Given the description of an element on the screen output the (x, y) to click on. 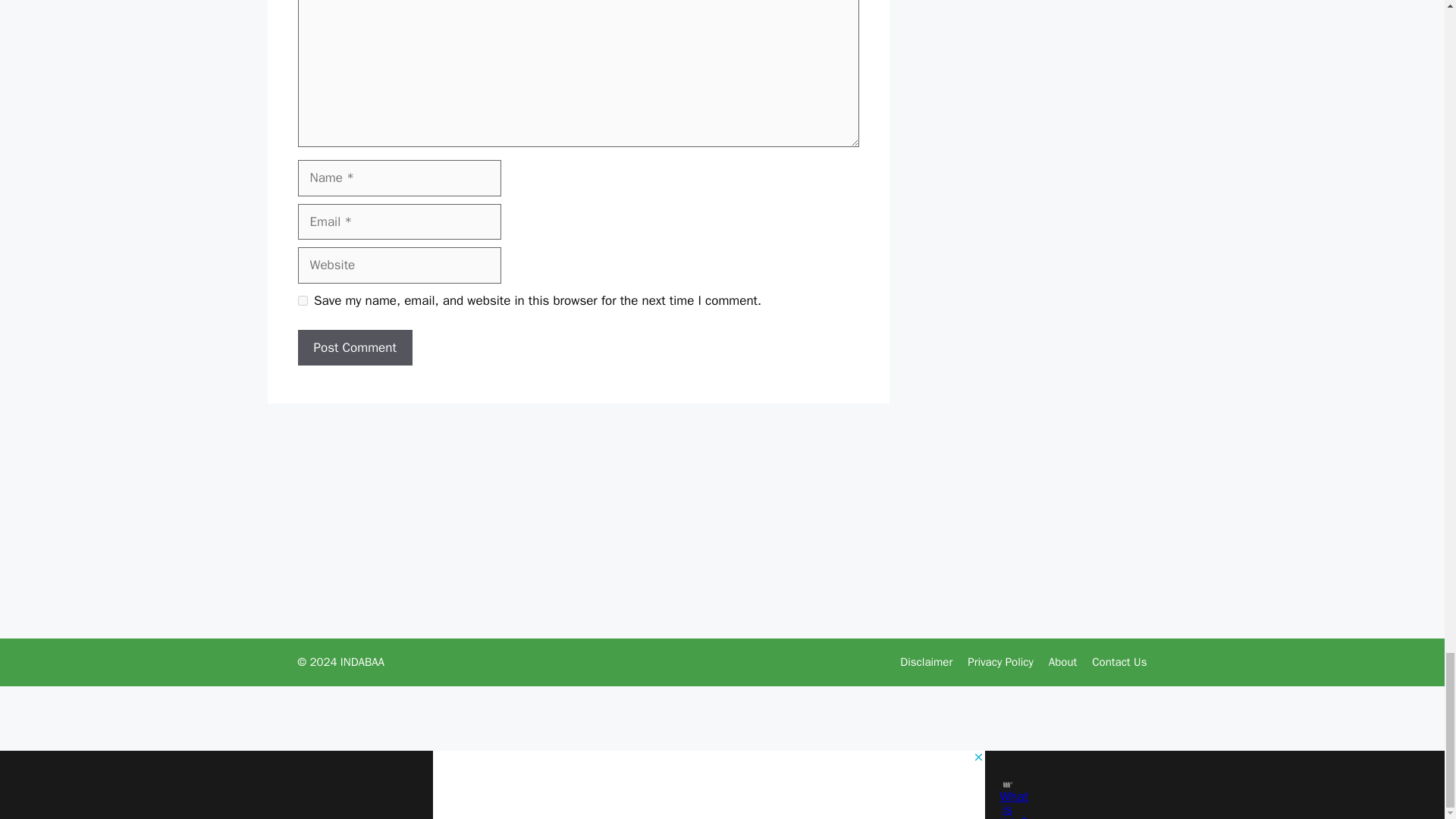
yes (302, 300)
Post Comment (354, 348)
Post Comment (354, 348)
